Given the description of an element on the screen output the (x, y) to click on. 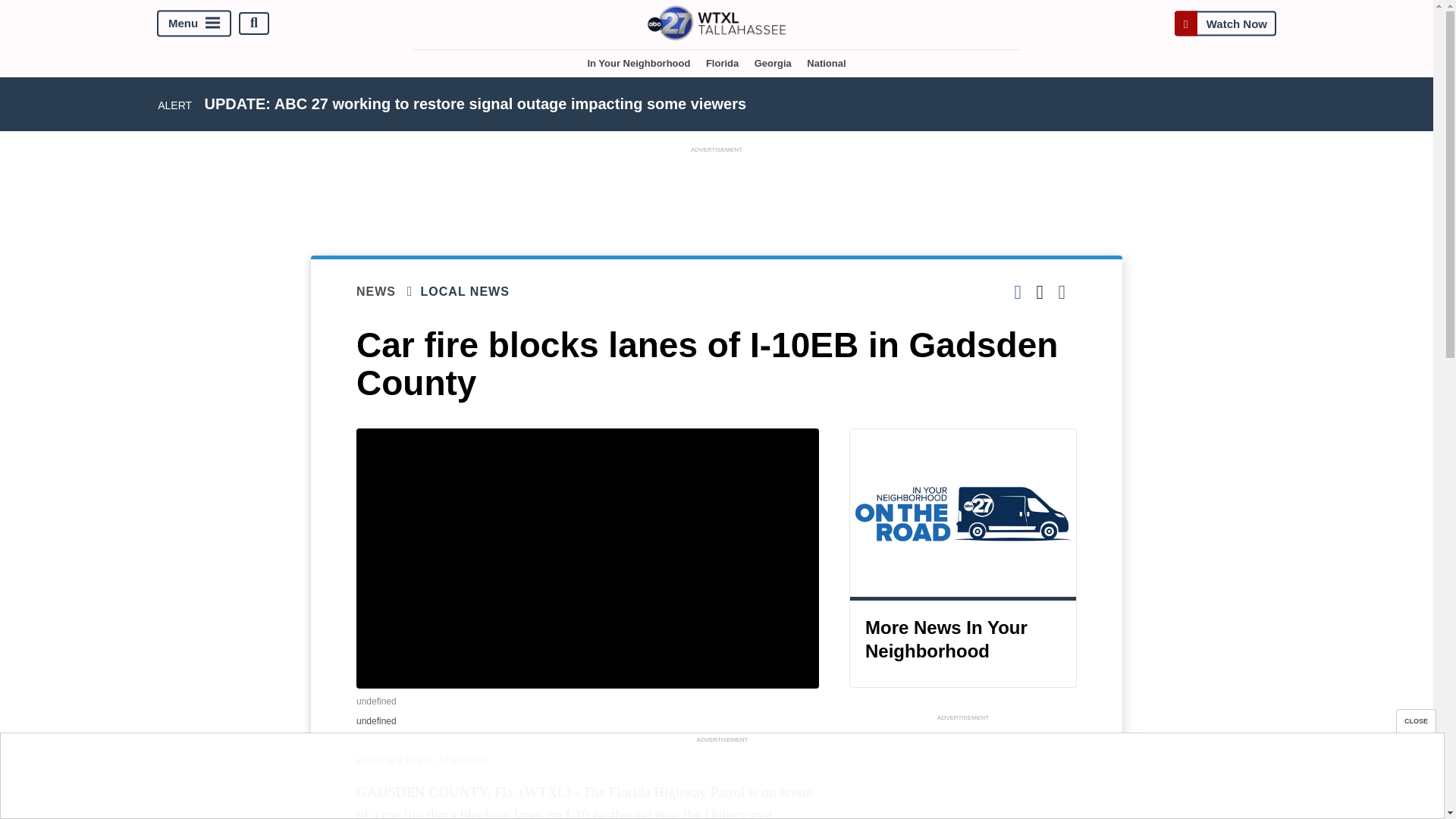
Watch Now (1224, 22)
3rd party ad content (716, 191)
Menu (194, 22)
3rd party ad content (962, 771)
3rd party ad content (721, 780)
